Given the description of an element on the screen output the (x, y) to click on. 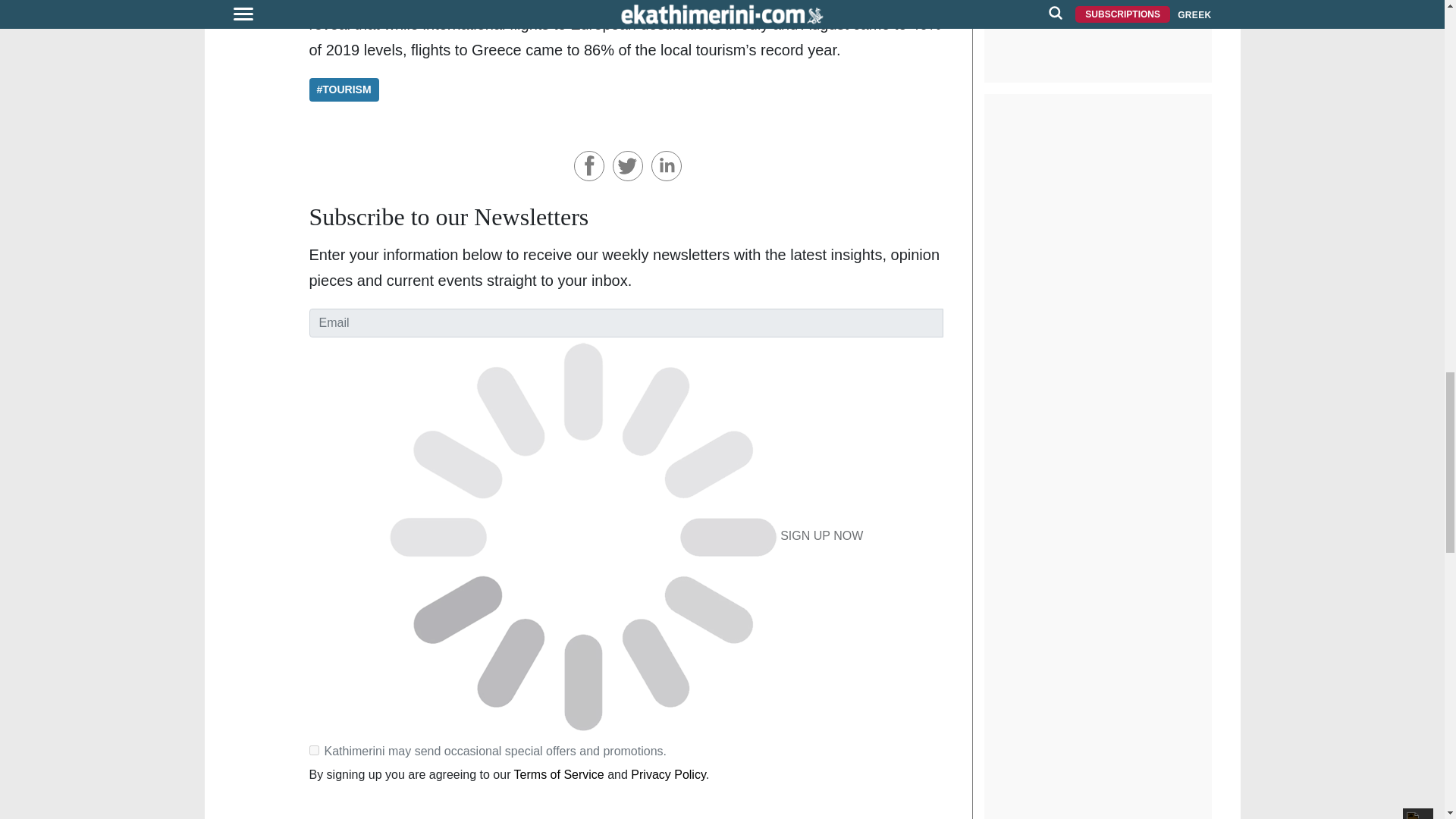
on (313, 750)
